Given the description of an element on the screen output the (x, y) to click on. 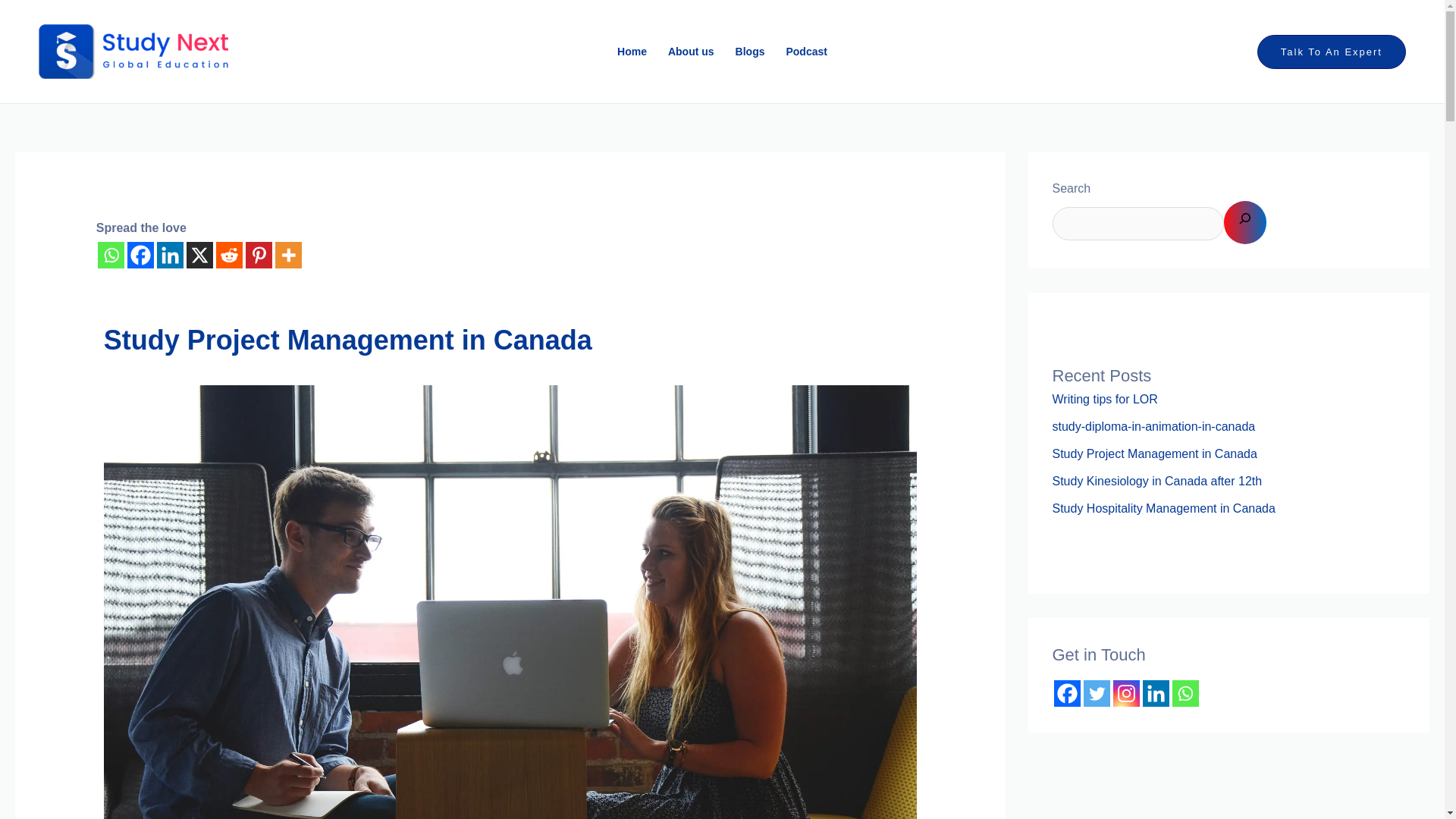
Facebook (141, 254)
X (199, 254)
Talk To An Expert (1331, 51)
More (288, 254)
Whatsapp (110, 254)
Blogs (750, 51)
Linkedin (170, 254)
Reddit (229, 254)
Writing tips for LOR (1104, 399)
Study Project Management in Canada (1154, 453)
Home (632, 51)
study-diploma-in-animation-in-canada (1153, 426)
Pinterest (259, 254)
Podcast (805, 51)
Study Kinesiology in Canada after 12th (1157, 481)
